Given the description of an element on the screen output the (x, y) to click on. 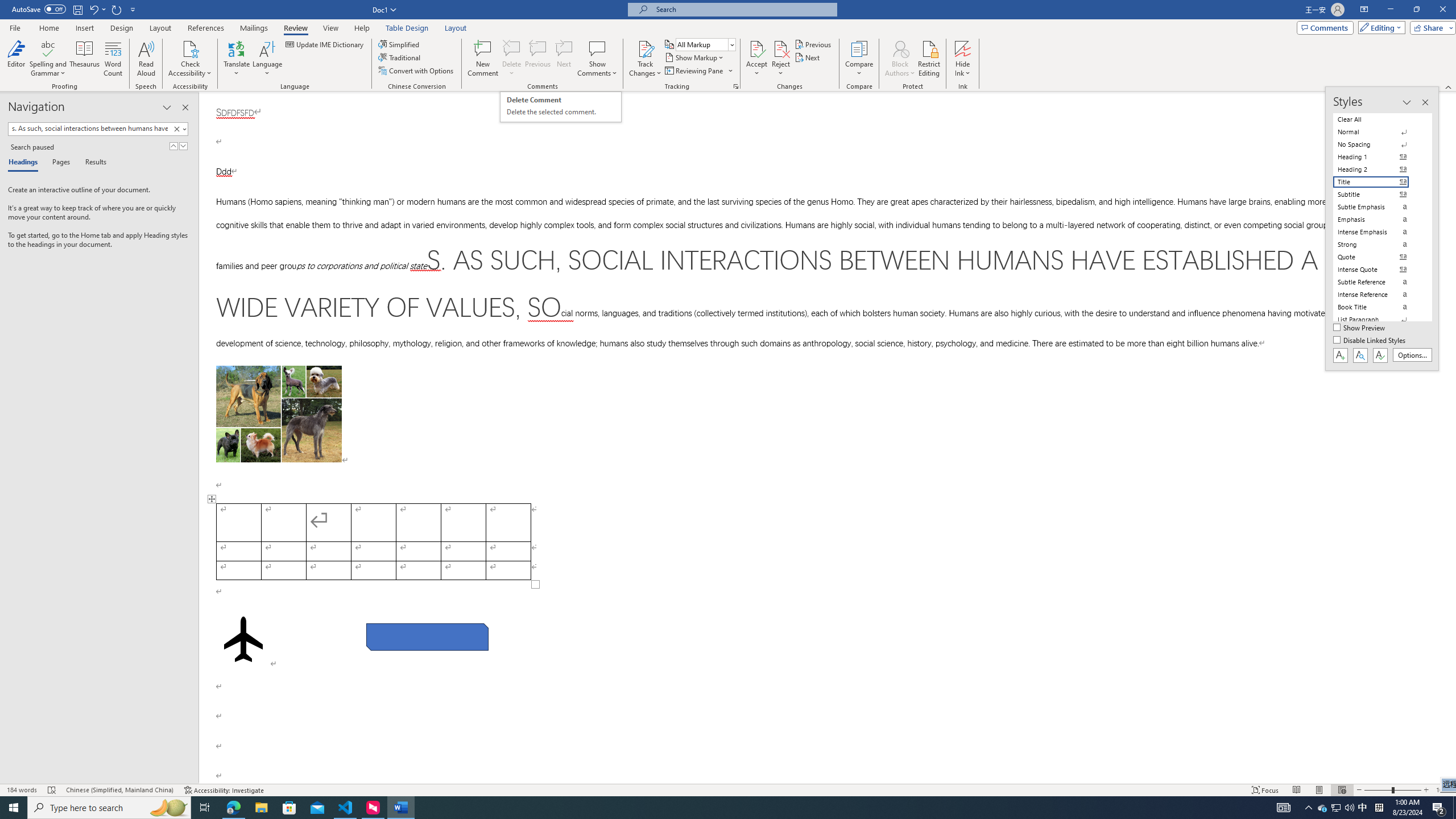
Show Preview (1360, 328)
Editor (16, 58)
